Given the description of an element on the screen output the (x, y) to click on. 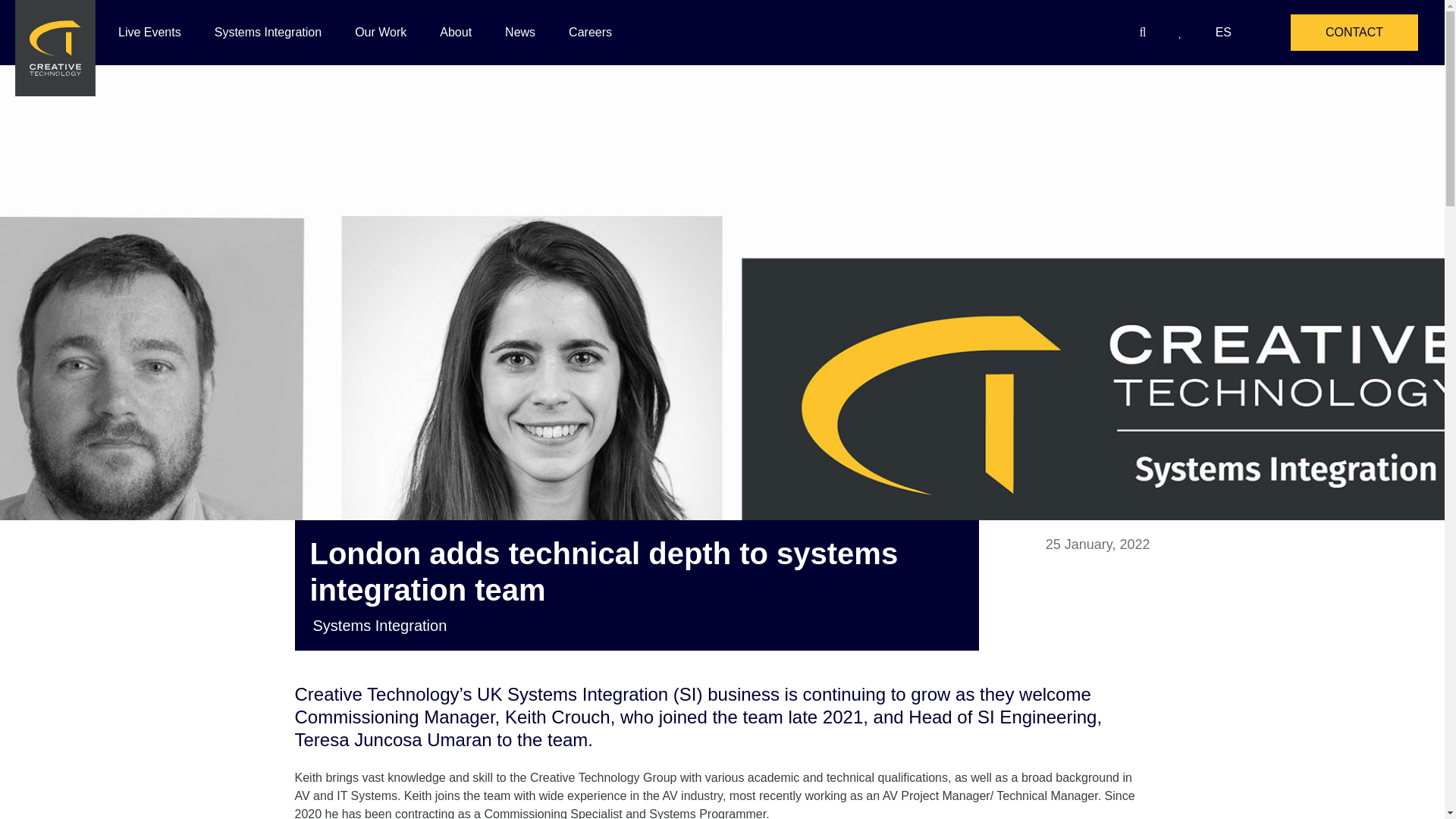
Live Events (148, 32)
